Given the description of an element on the screen output the (x, y) to click on. 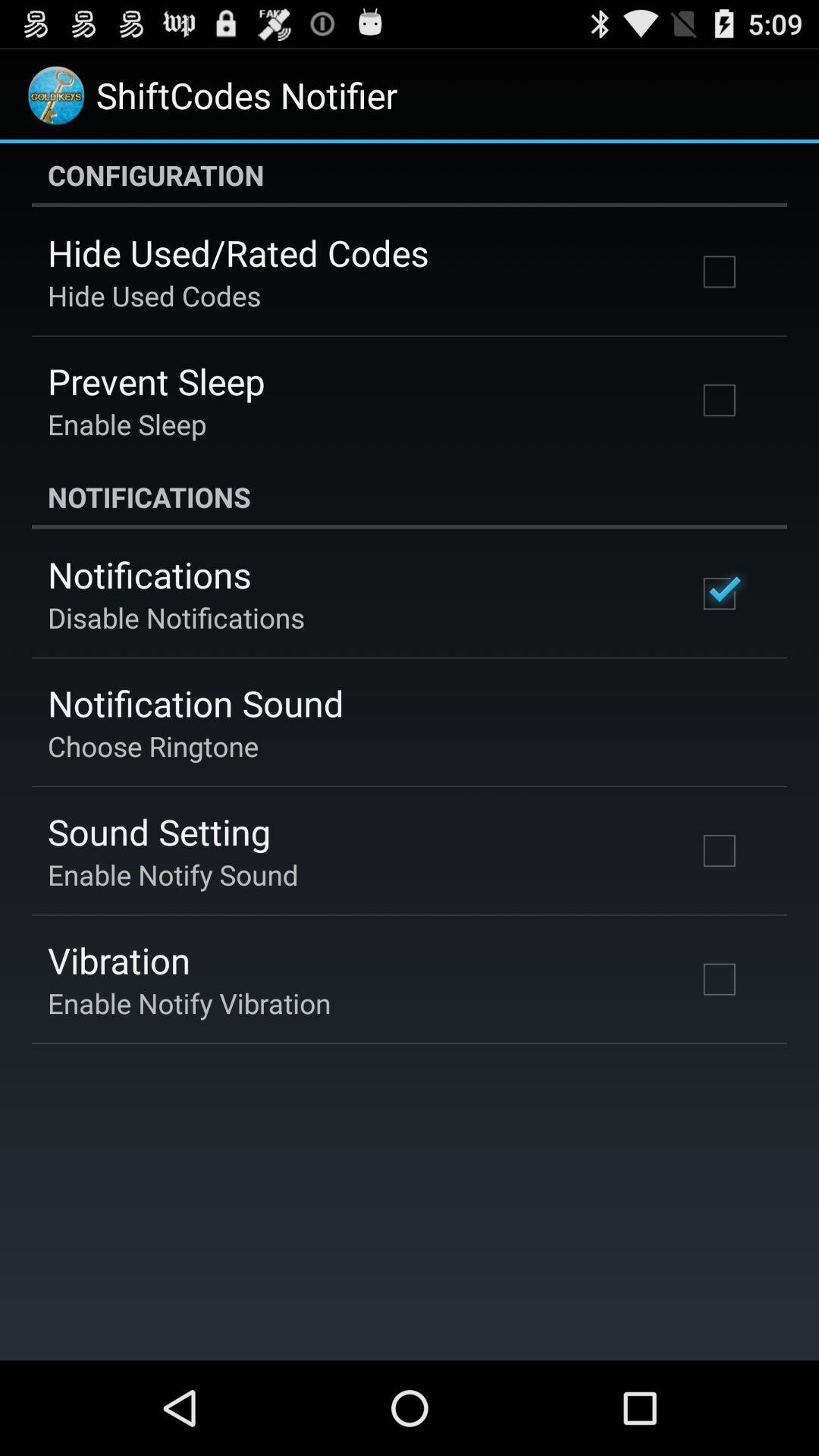
press prevent sleep (156, 381)
